Given the description of an element on the screen output the (x, y) to click on. 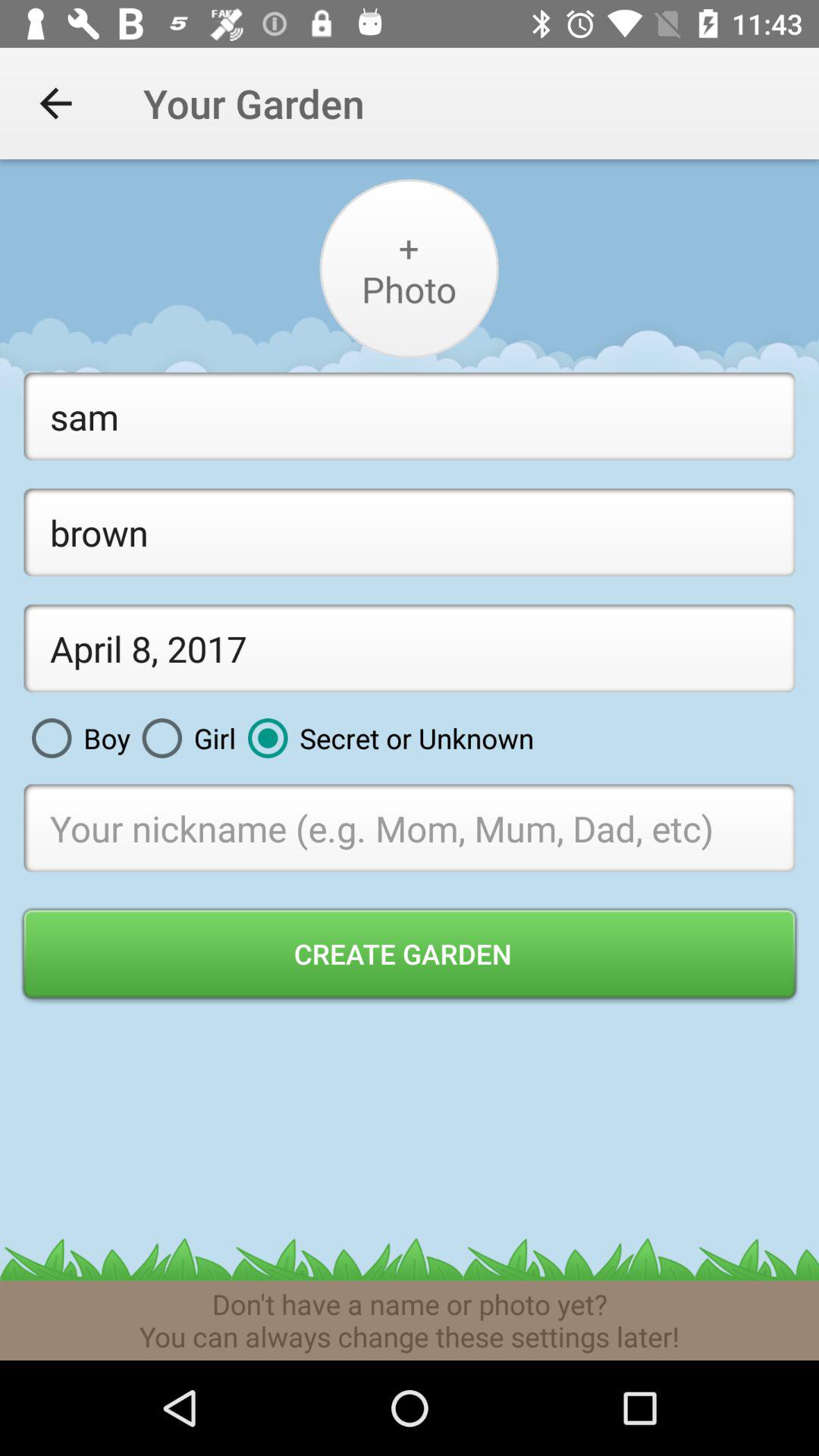
add your profile picture (408, 268)
